Given the description of an element on the screen output the (x, y) to click on. 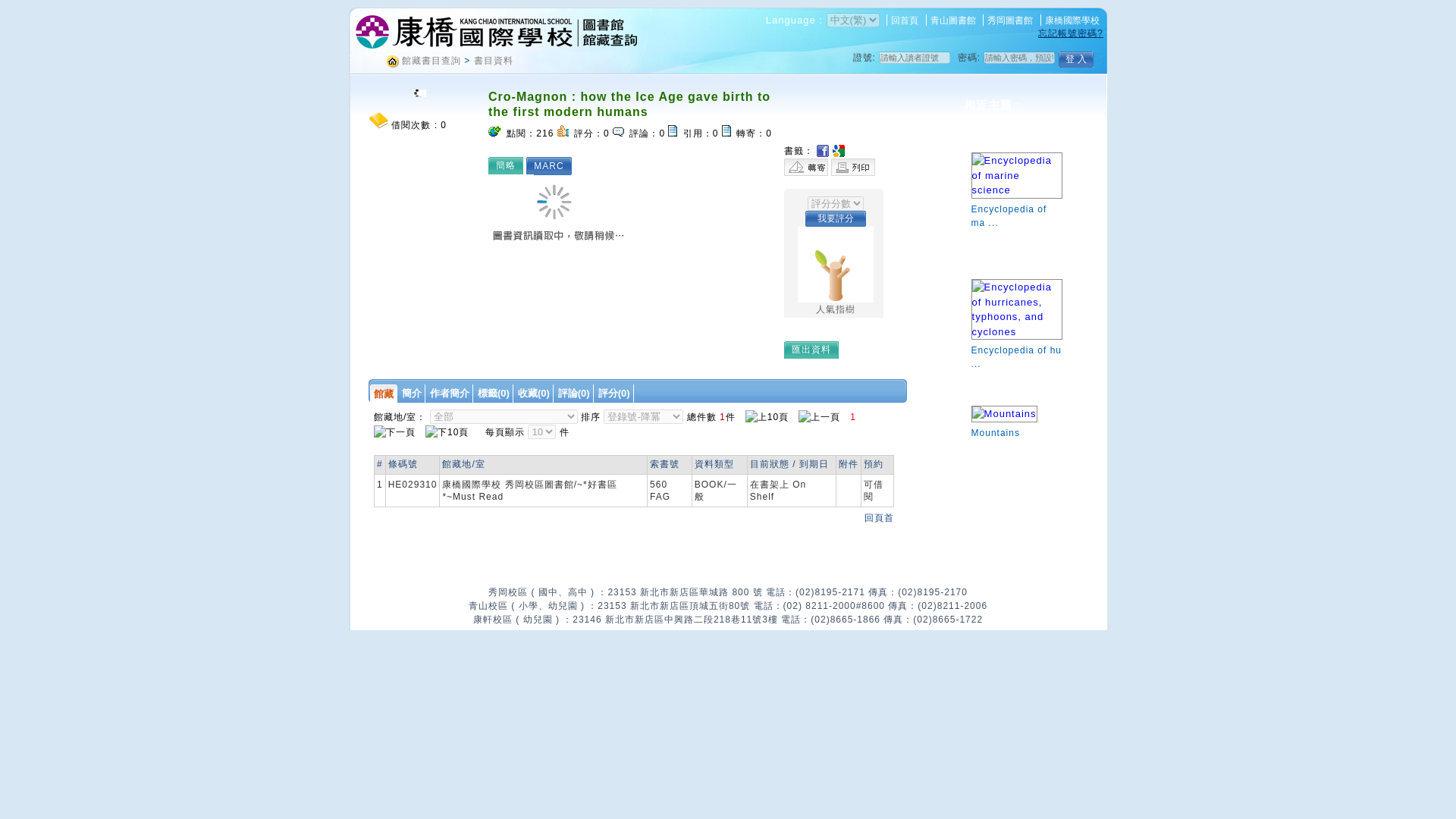
::: (354, 57)
MARC (552, 165)
MARC (552, 165)
Encyclopedia of hu ... (1016, 348)
Facebook (823, 150)
Encyclopedia of ma ... (1016, 207)
Mountains (1016, 423)
